Given the description of an element on the screen output the (x, y) to click on. 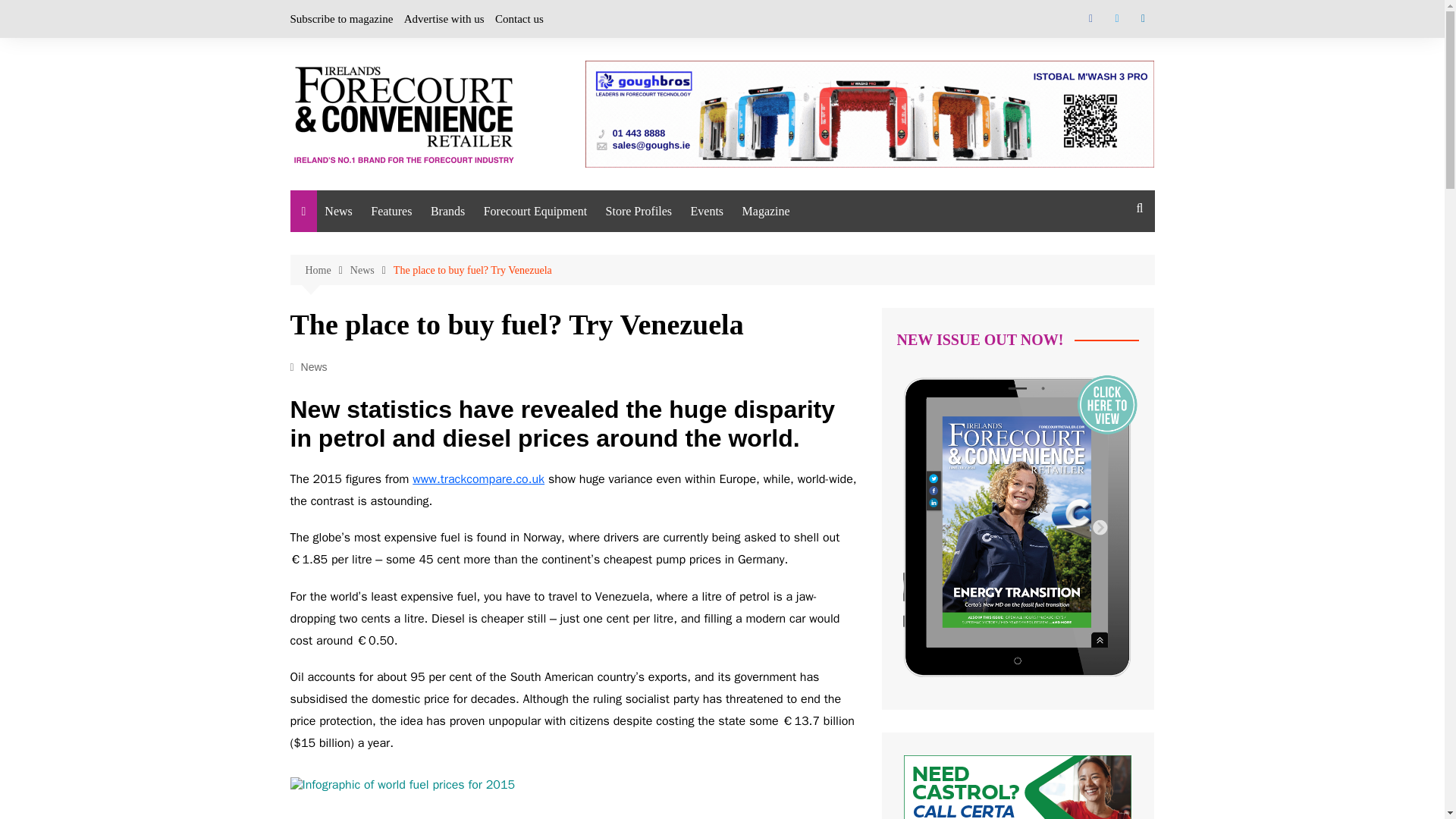
Twitter (1116, 18)
Brands (447, 211)
Alcohol (506, 247)
Grocery (506, 437)
Special Reports (445, 279)
Store Profiles (638, 211)
Soft Drinks (506, 563)
Convenience Retailer Summit 2021 (766, 256)
Subscribe to magazine (341, 18)
Interviews (445, 247)
